Given the description of an element on the screen output the (x, y) to click on. 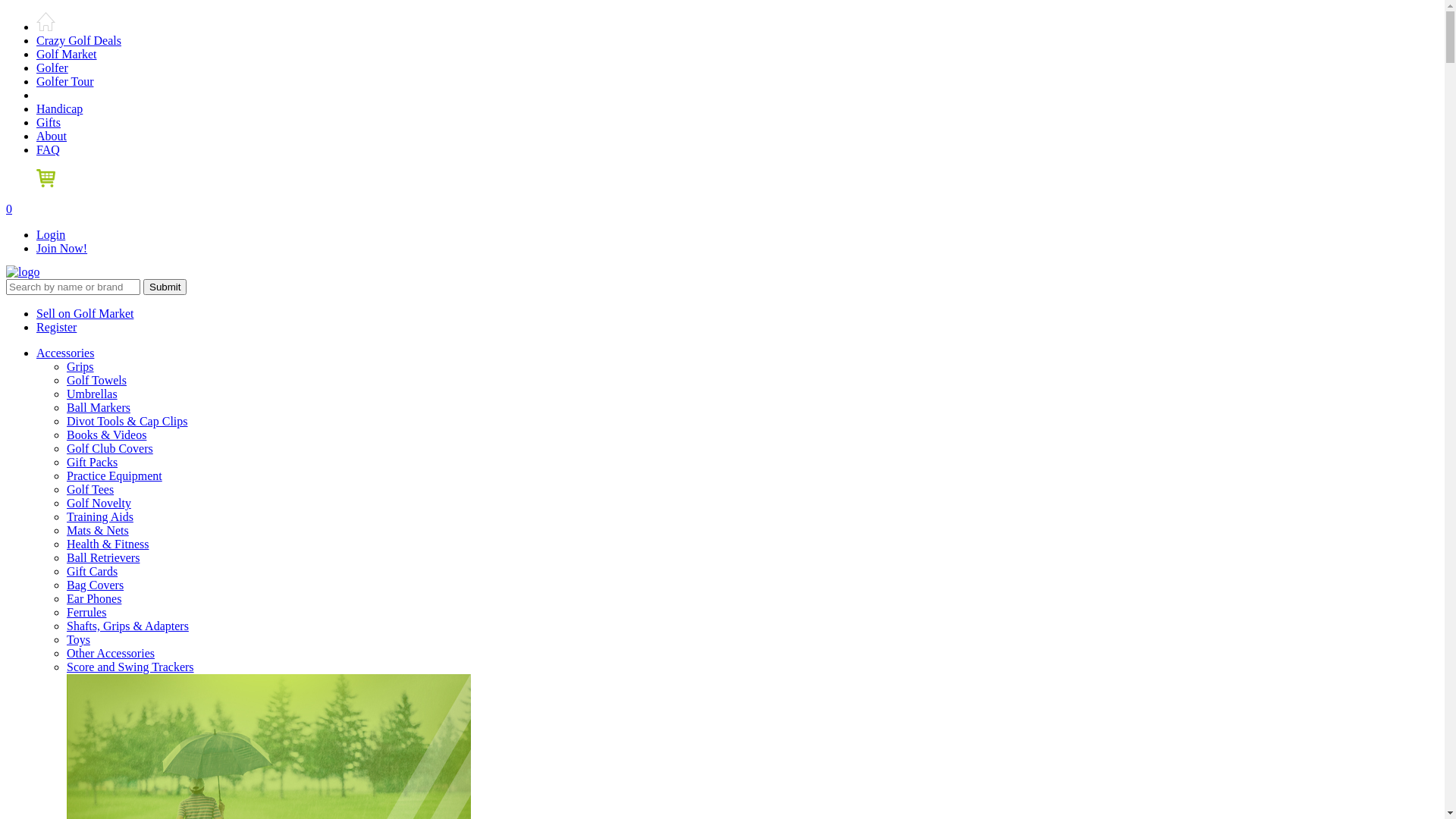
Ball Markers Element type: text (98, 407)
Score and Swing Trackers Element type: text (130, 666)
Grips Element type: text (80, 366)
FAQ Element type: text (47, 149)
Bag Covers Element type: text (94, 584)
Sell on Golf Market Element type: text (84, 313)
Ferrules Element type: text (86, 611)
Mats & Nets Element type: text (97, 530)
Golf Novelty Element type: text (98, 502)
Toys Element type: text (78, 639)
Join Now! Element type: text (61, 247)
Shafts, Grips & Adapters Element type: text (127, 625)
Register Element type: text (56, 326)
Golf Market Element type: text (66, 53)
Handicap Element type: text (59, 108)
Health & Fitness Element type: text (107, 543)
Golf Club Covers Element type: text (109, 448)
Training Aids Element type: text (99, 516)
Golfer Tour Element type: text (64, 81)
0 Element type: text (722, 192)
Ball Retrievers Element type: text (102, 557)
About Element type: text (51, 135)
Ear Phones Element type: text (93, 598)
Practice Equipment Element type: text (114, 475)
Other Accessories Element type: text (110, 652)
Golfer Element type: text (52, 67)
Umbrellas Element type: text (91, 393)
Gift Cards Element type: text (91, 570)
Books & Videos Element type: text (106, 434)
Gifts Element type: text (48, 122)
Accessories Element type: text (65, 352)
Crazy Golf Deals Element type: text (78, 40)
Divot Tools & Cap Clips Element type: text (127, 420)
Golf Towels Element type: text (96, 379)
Gift Packs Element type: text (91, 461)
Golf Tees Element type: text (89, 489)
Login Element type: text (50, 234)
